Given the description of an element on the screen output the (x, y) to click on. 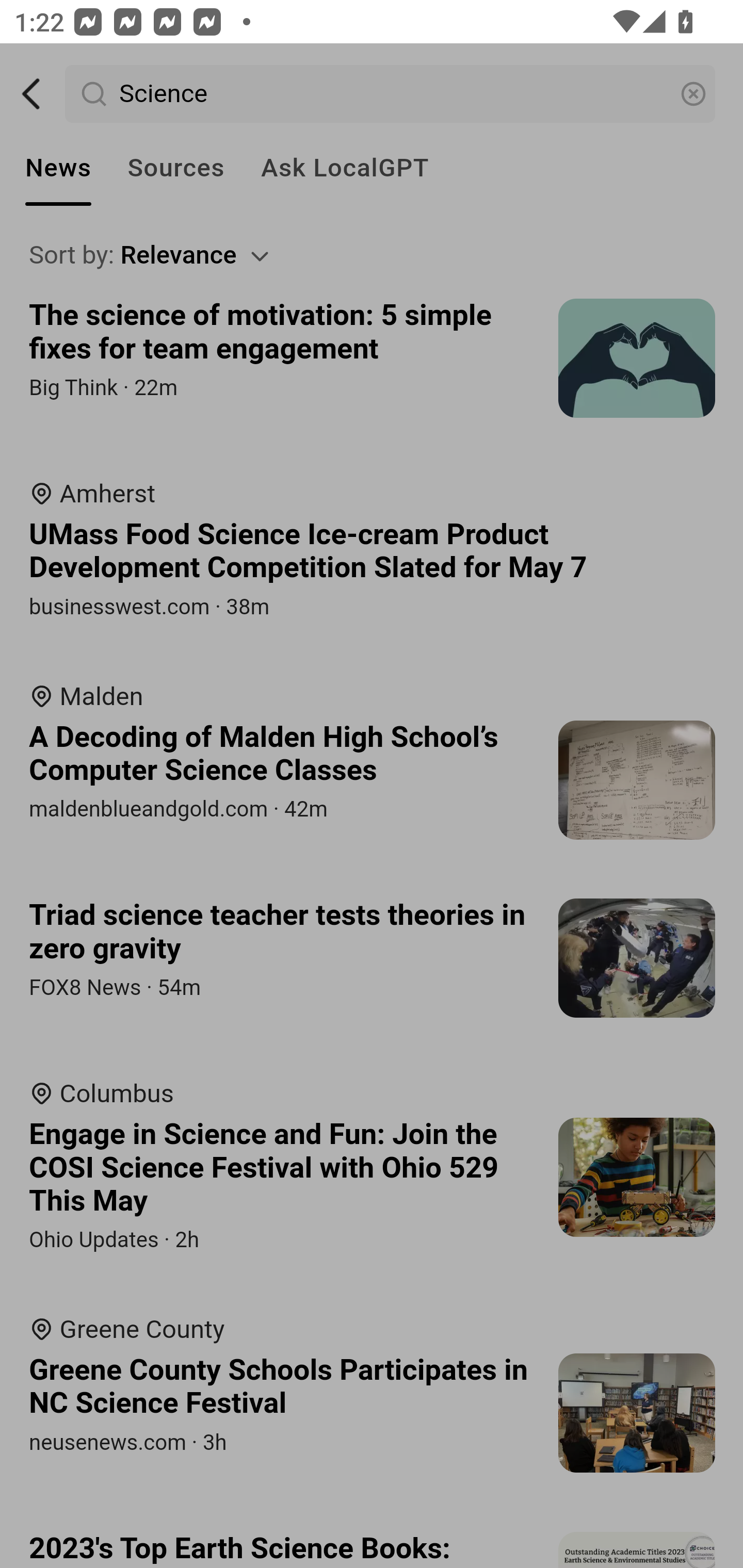
Science (390, 93)
News (58, 168)
Sources (175, 168)
Ask LocalGPT (344, 168)
Sort by:  Relevance (372, 254)
